Given the description of an element on the screen output the (x, y) to click on. 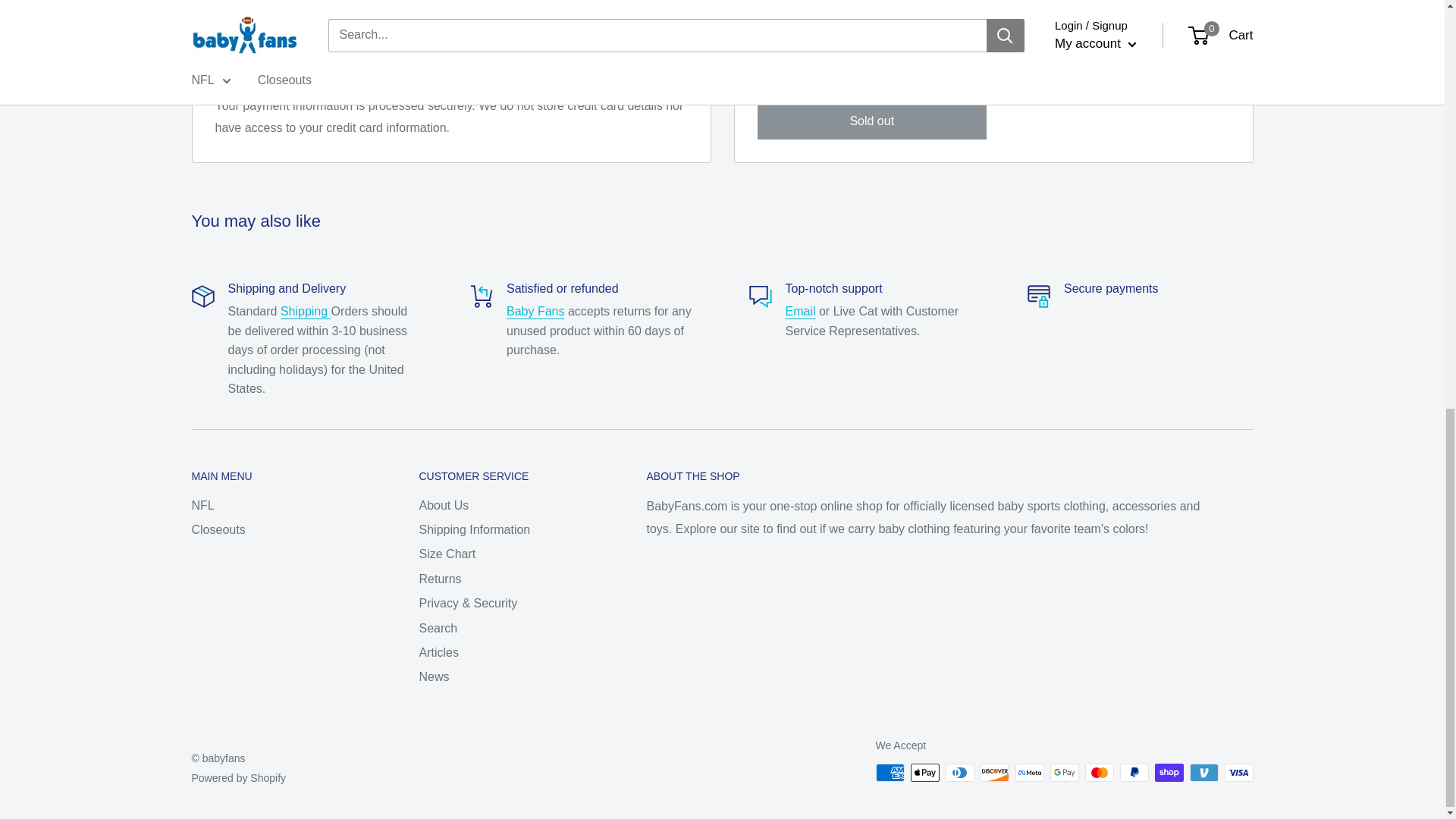
Contact Us (800, 310)
Shipping Policy (306, 310)
Returns (535, 310)
